Given the description of an element on the screen output the (x, y) to click on. 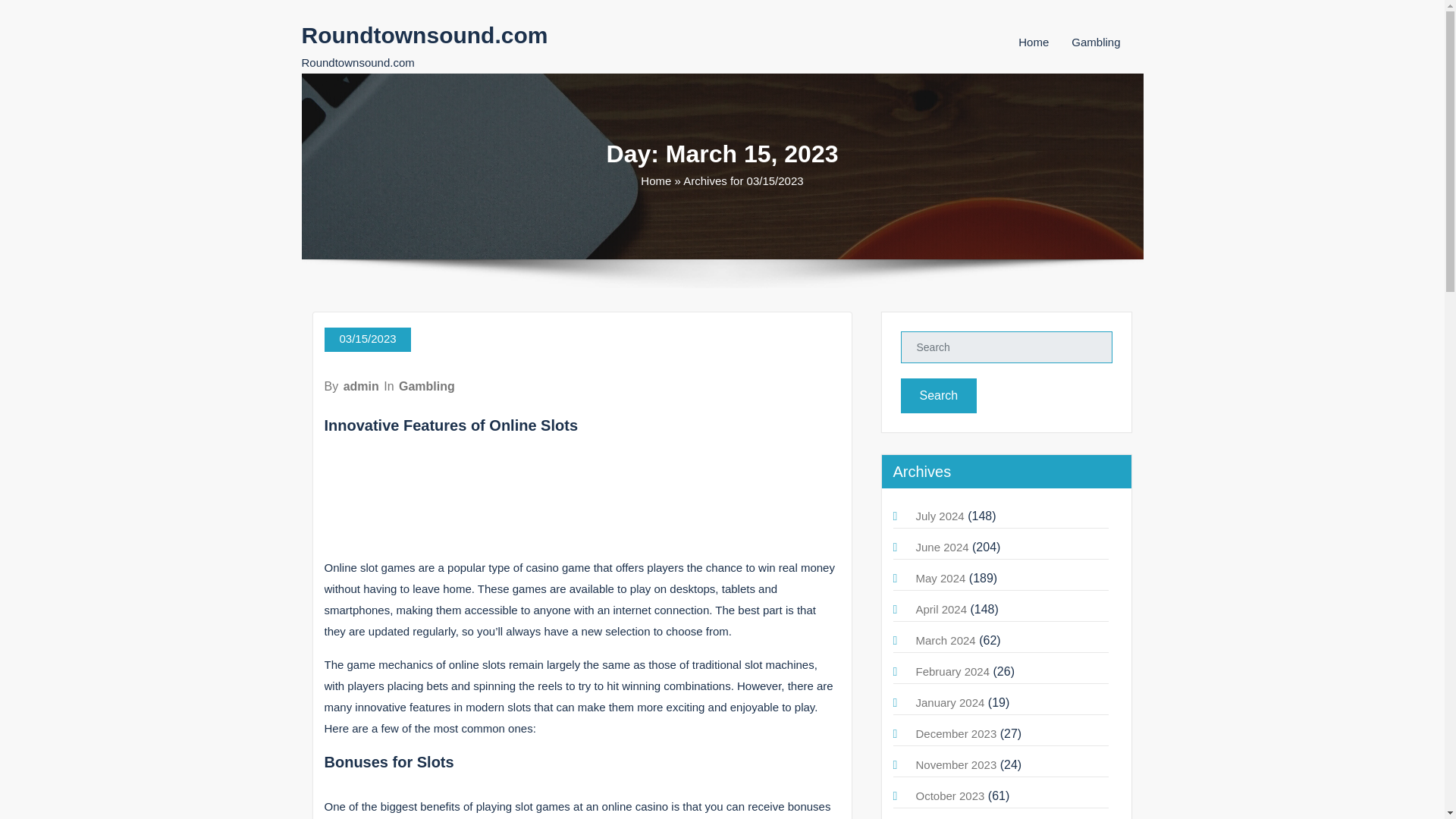
Gambling (427, 386)
Gambling (1095, 41)
Search (938, 395)
June 2024 (942, 546)
February 2024 (952, 671)
November 2023 (956, 764)
admin (361, 386)
December 2023 (956, 733)
July 2024 (939, 515)
March 2024 (945, 640)
January 2024 (950, 702)
April 2024 (941, 608)
October 2023 (950, 795)
Home (655, 180)
May 2024 (940, 577)
